Given the description of an element on the screen output the (x, y) to click on. 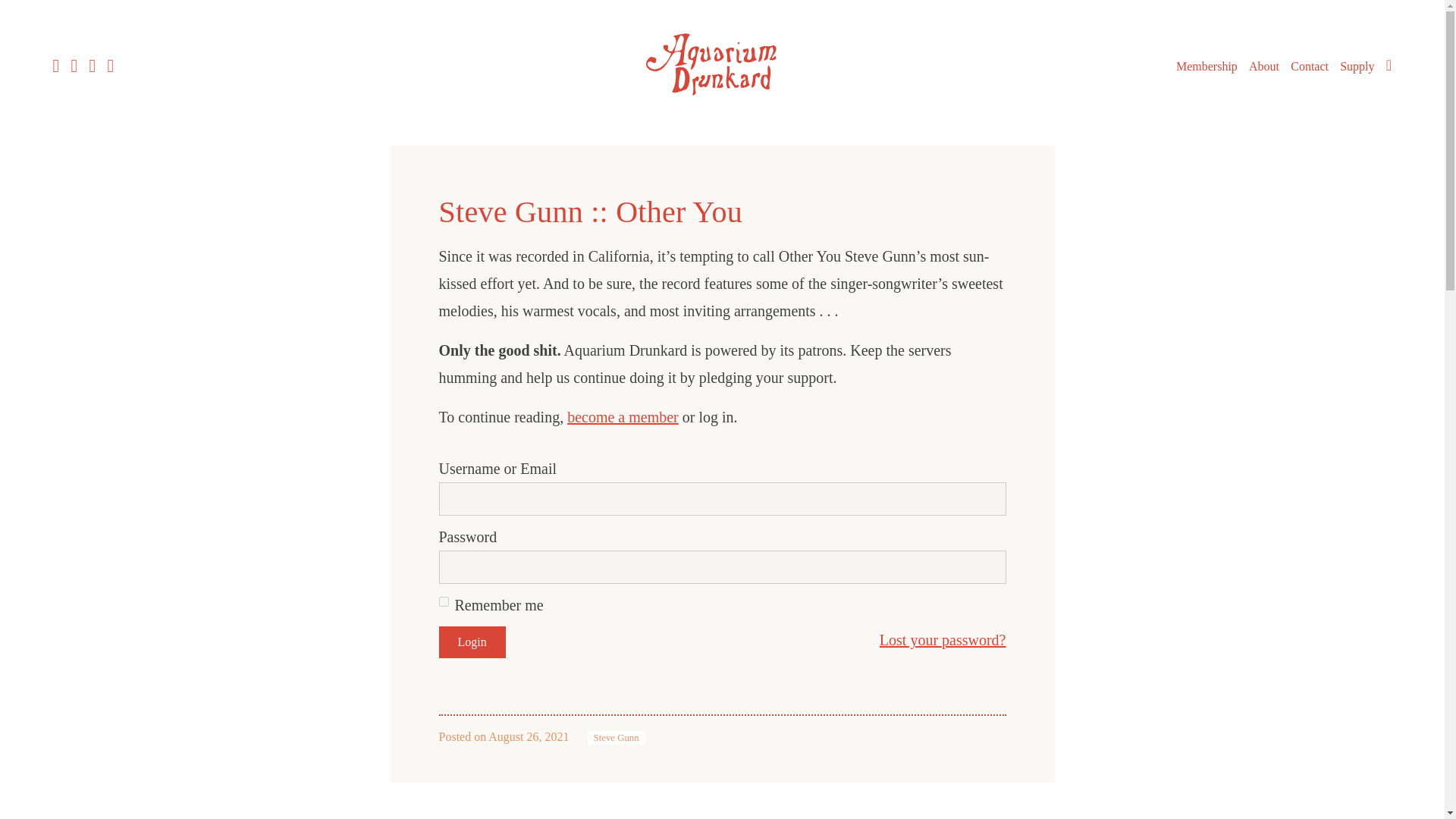
Aquarium Drunkard (721, 64)
Steve Gunn (616, 737)
August 26, 2021 (528, 736)
Contact (1308, 66)
Aquarium Drunkard Merch Shop (1356, 66)
Lost your password? (942, 639)
Login (471, 642)
Supply (1356, 66)
About (1264, 66)
1 (443, 601)
